Given the description of an element on the screen output the (x, y) to click on. 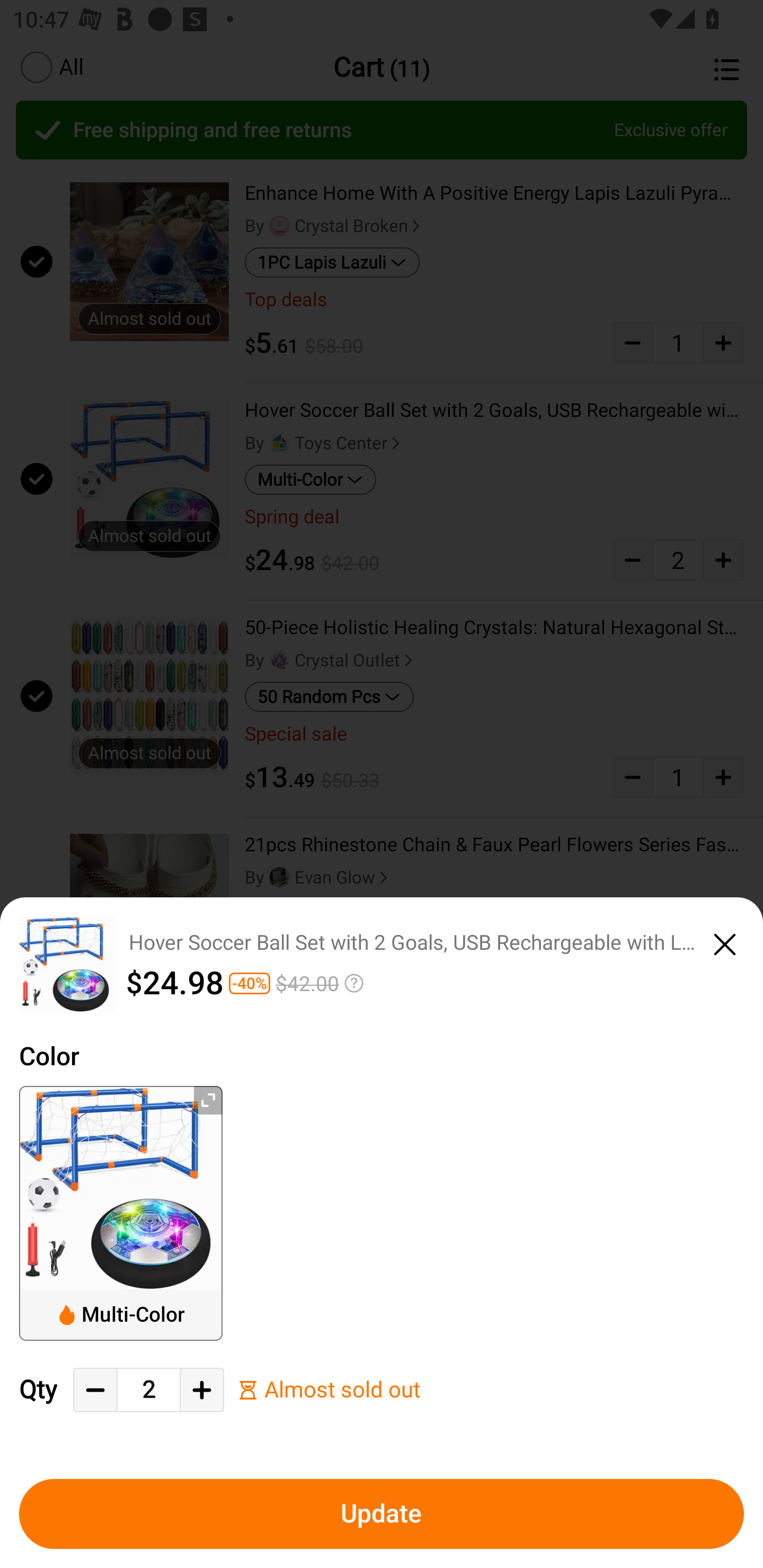
close (724, 941)
Multi-Color ￼Multi-Color (120, 1213)
Decrease Quantity Button (95, 1389)
Add Quantity Button (201, 1389)
2 (148, 1389)
Update (381, 1513)
